Given the description of an element on the screen output the (x, y) to click on. 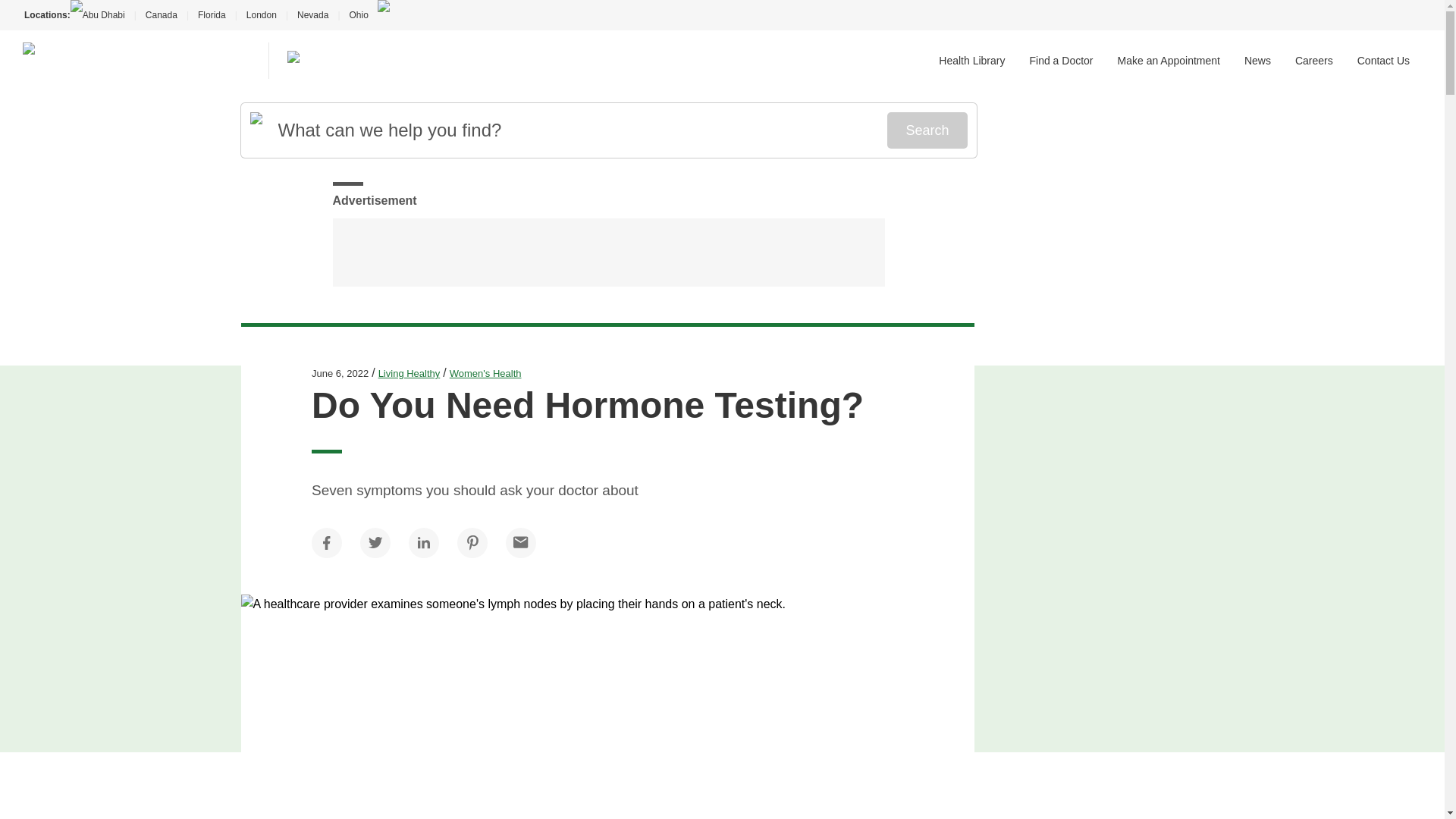
Contact Us (1382, 60)
Canada (161, 15)
News (1257, 60)
Health Library (971, 60)
Florida (211, 15)
Abu Dhabi (101, 15)
Ohio (358, 15)
Careers (1314, 60)
Make an Appointment (1169, 60)
Women's Health (485, 373)
Living Healthy (409, 373)
London (261, 15)
Find a Doctor (1061, 60)
Nevada (312, 15)
